Given the description of an element on the screen output the (x, y) to click on. 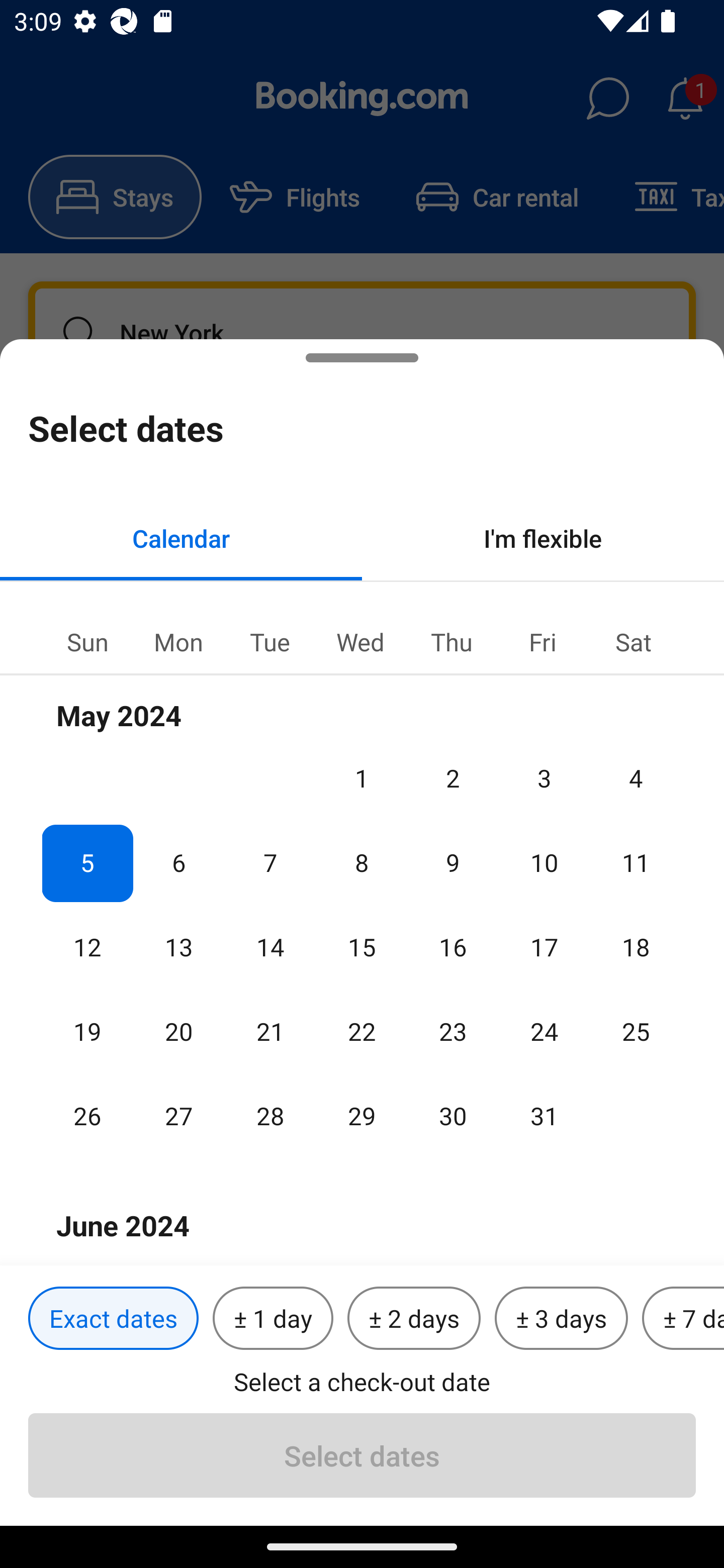
I'm flexible (543, 537)
Exact dates (113, 1318)
± 1 day (272, 1318)
± 2 days (413, 1318)
± 3 days (560, 1318)
± 7 days (683, 1318)
Select dates (361, 1454)
